Given the description of an element on the screen output the (x, y) to click on. 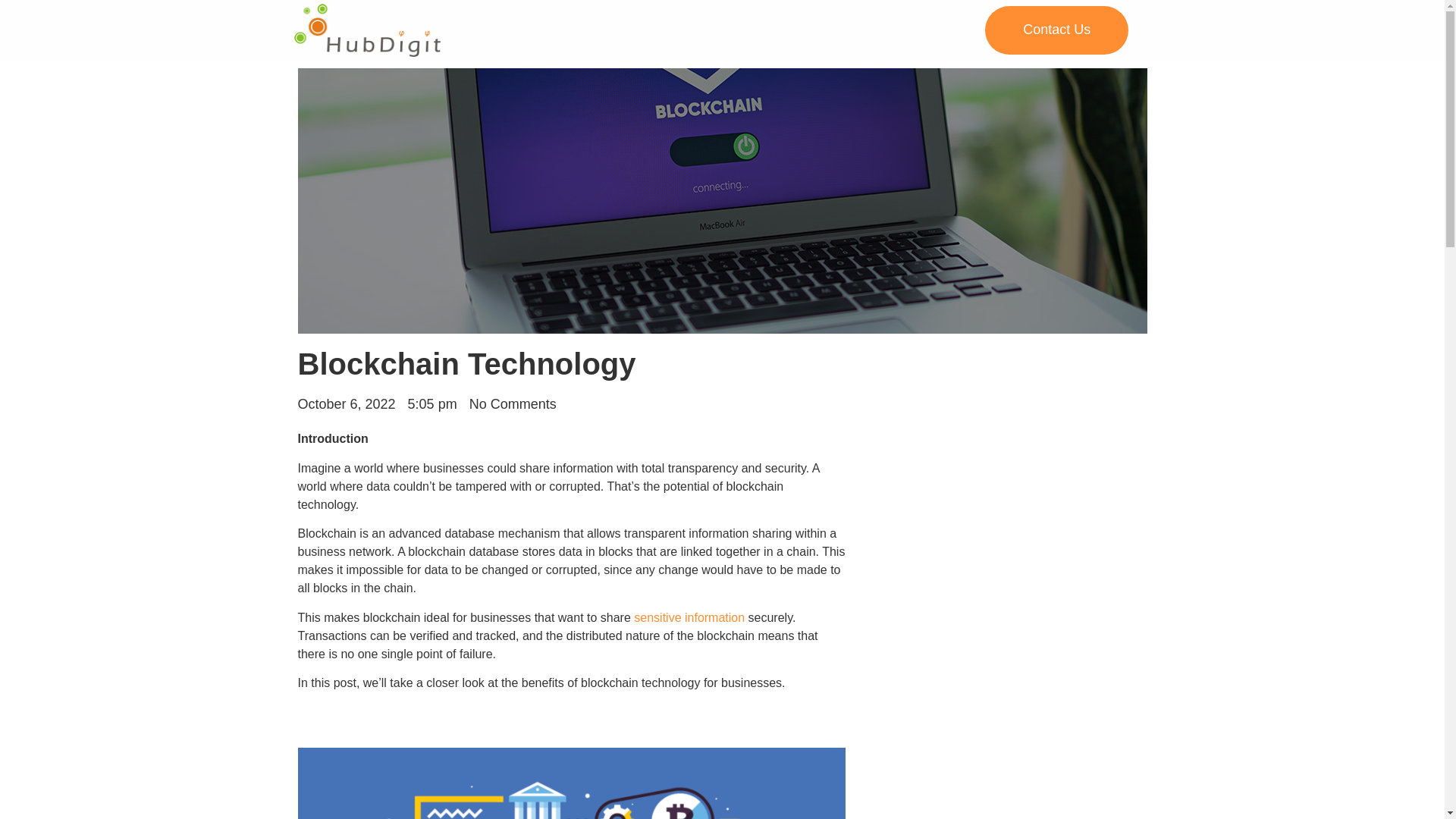
sensitive information (688, 617)
Contact Us (1056, 29)
October 6, 2022 (345, 403)
No Comments (512, 403)
